Given the description of an element on the screen output the (x, y) to click on. 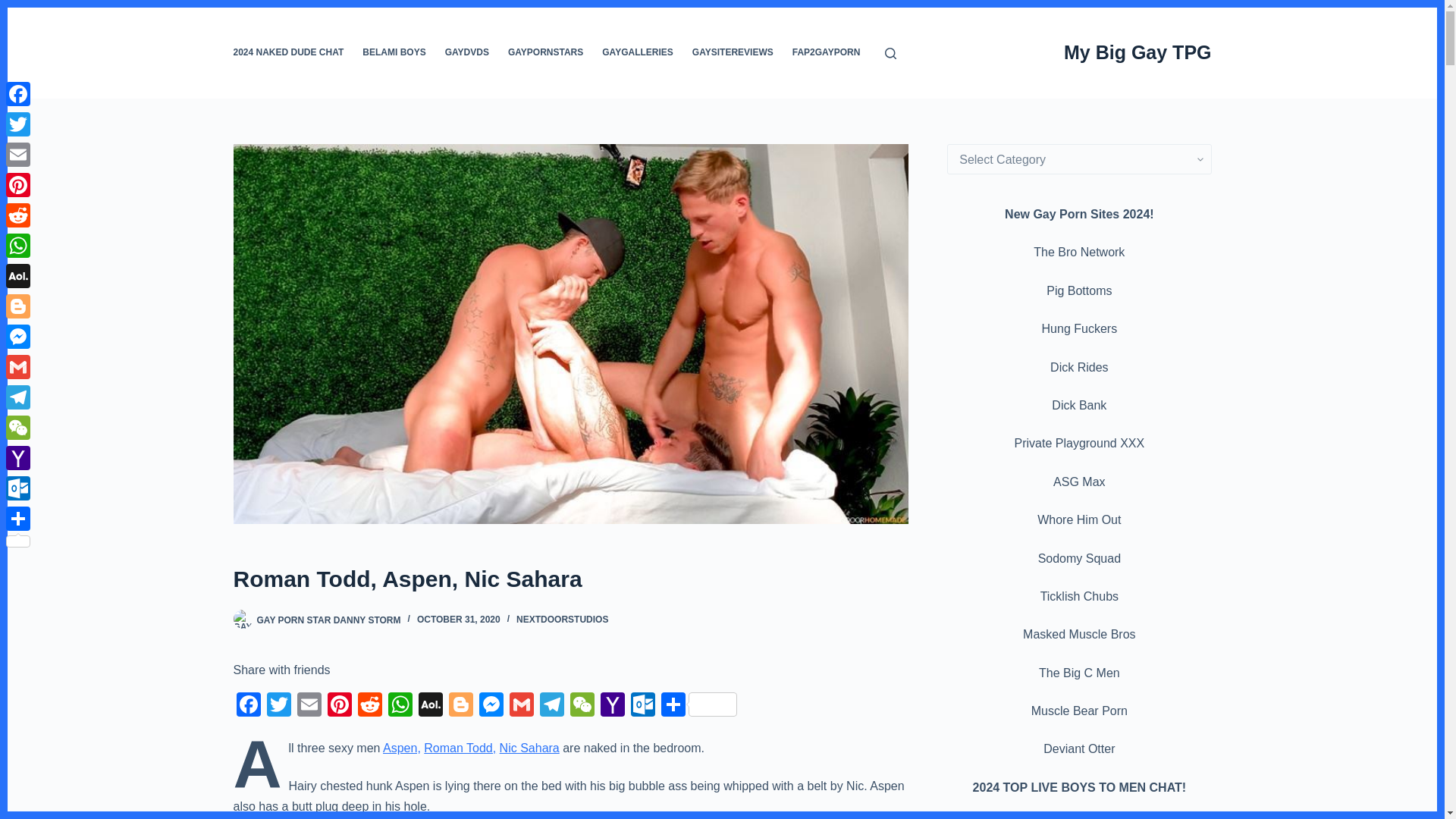
World Famous Gay Porn Stars (544, 52)
BELAMI BOYS (394, 52)
Reddit (370, 706)
Facebook (247, 706)
Posts by Gay Porn Star Danny Storm (328, 619)
2024 NAKED DUDE CHAT (292, 52)
WeChat (581, 706)
Gmail (521, 706)
Messenger (491, 706)
GAYPORNSTARS (544, 52)
Yahoo Mail (611, 706)
Email (309, 706)
AOL Mail (429, 706)
Skip to content (15, 7)
My Big Gay TPG (1137, 52)
